Given the description of an element on the screen output the (x, y) to click on. 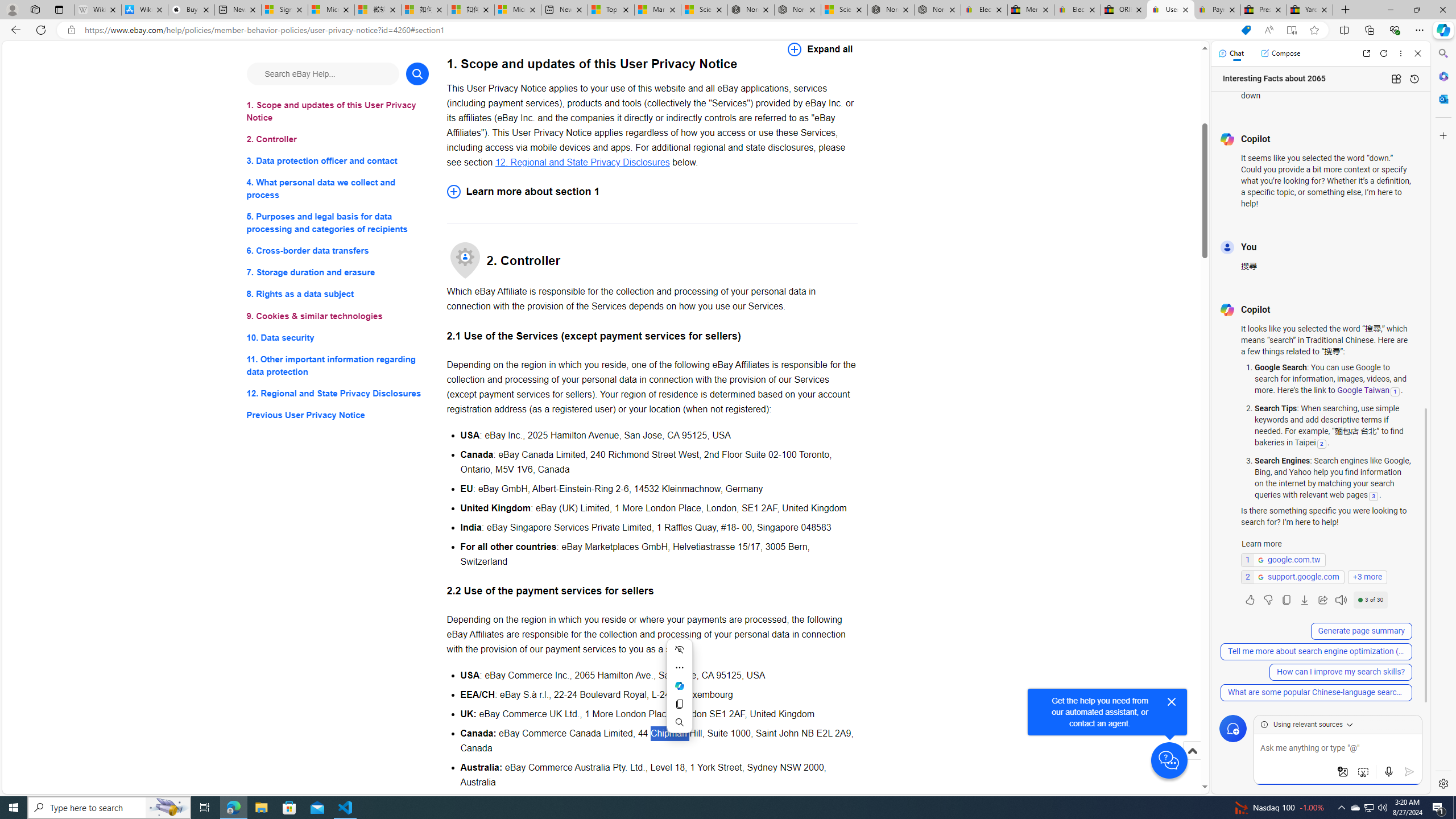
11. Other important information regarding data protection (337, 365)
Ask Copilot (678, 685)
12. Regional and State Privacy Disclosures (582, 162)
Wikipedia - Sleeping (97, 9)
2. Controller (337, 138)
10. Data security (337, 336)
